Given the description of an element on the screen output the (x, y) to click on. 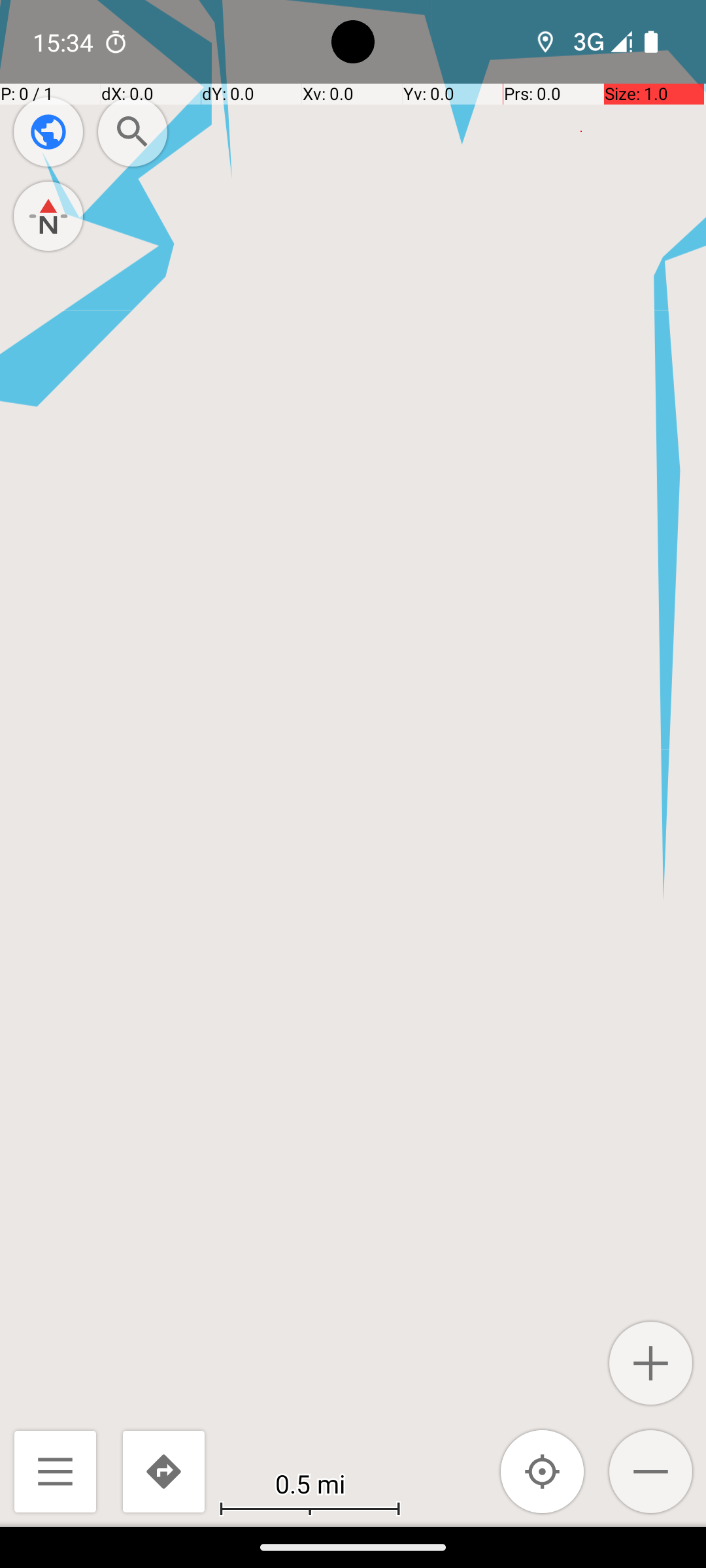
0.5 mi Element type: android.widget.TextView (309, 1483)
Map linked to location Element type: android.widget.ImageButton (542, 1471)
